Given the description of an element on the screen output the (x, y) to click on. 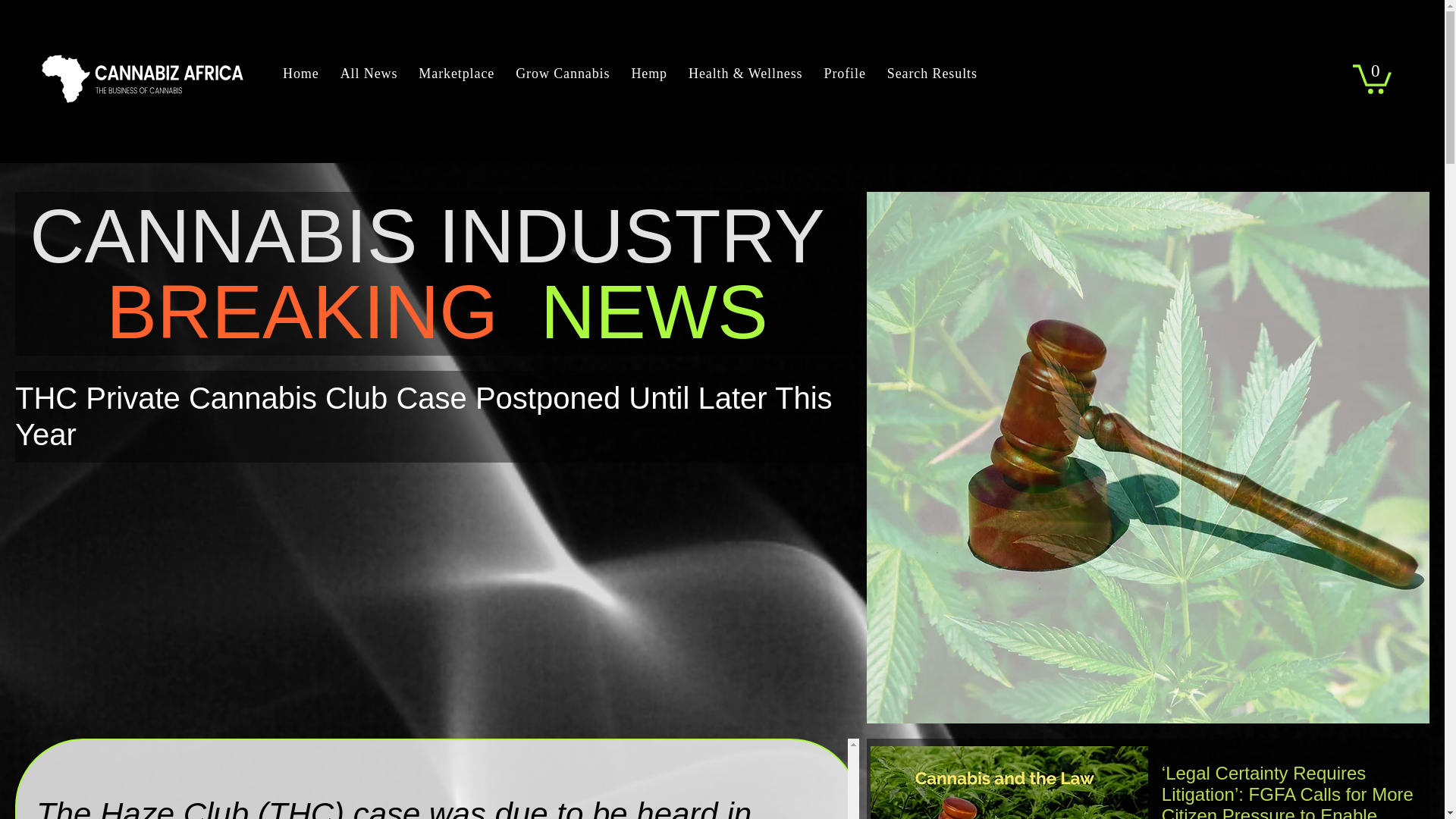
Search Results (932, 74)
0 (1371, 77)
0 (1371, 77)
All News (369, 74)
Marketplace (456, 74)
Grow Cannabis (562, 74)
